Given the description of an element on the screen output the (x, y) to click on. 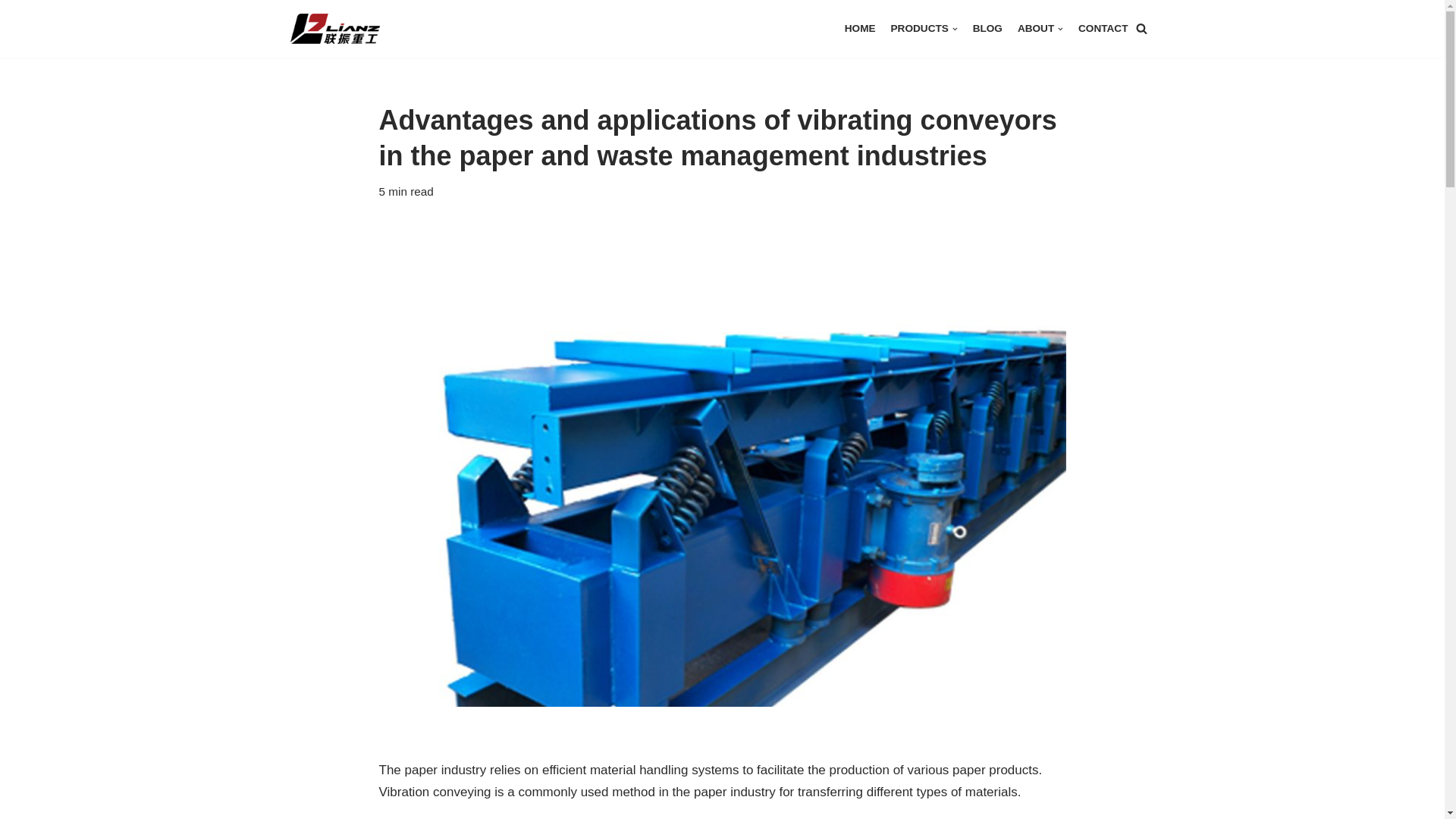
ABOUT (1039, 27)
HOME (860, 27)
Vibratory Conveyor Manufacturer - UHM (341, 28)
CONTACT (1102, 27)
Skip to content (11, 31)
PRODUCTS (924, 27)
BLOG (987, 27)
